Given the description of an element on the screen output the (x, y) to click on. 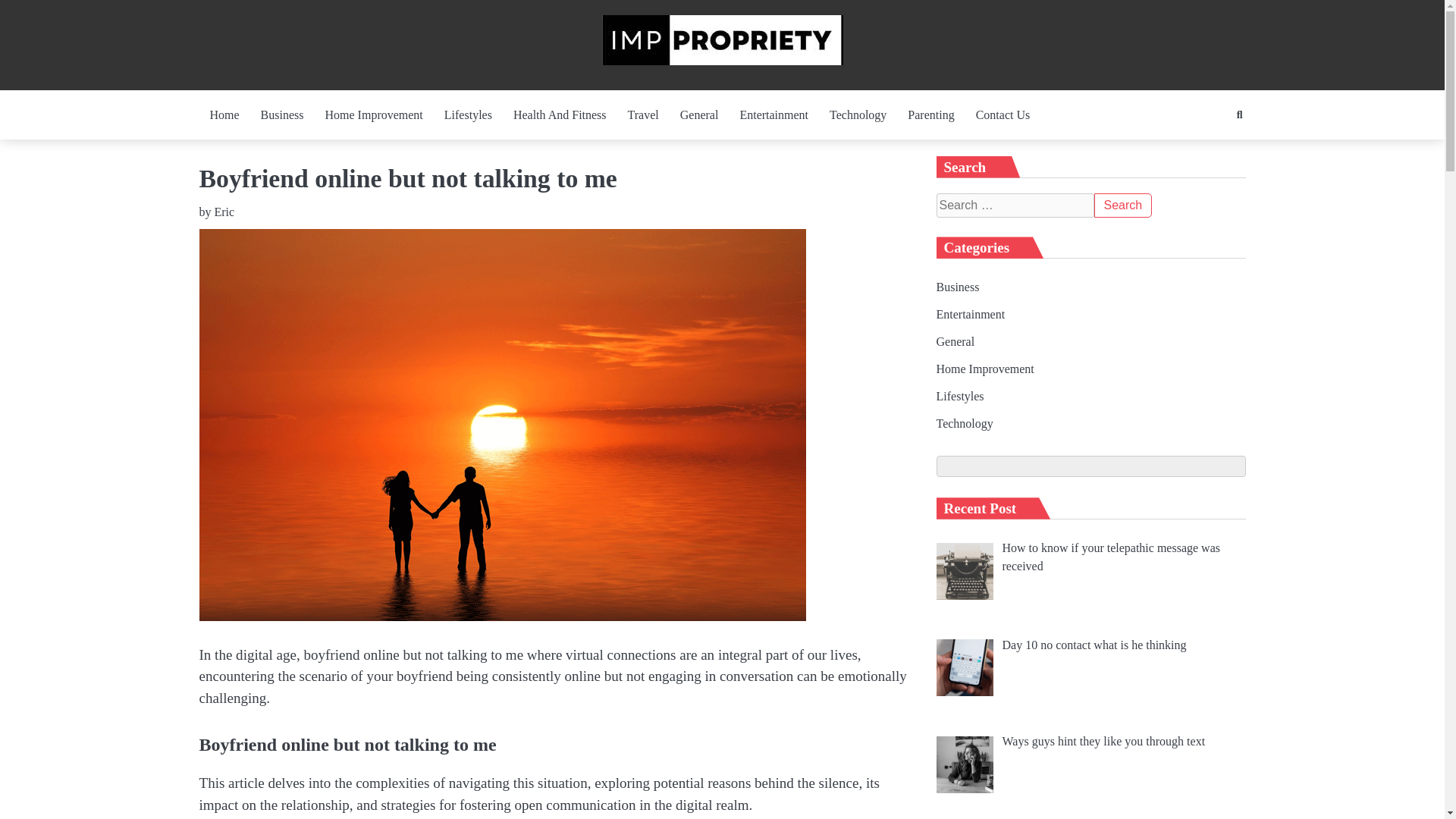
Search (1210, 145)
Entertainment (970, 314)
Eric (224, 211)
Home Improvement (373, 114)
Lifestyles (467, 114)
Search (1122, 205)
General (699, 114)
Business (282, 114)
Search (1122, 205)
Travel (643, 114)
Lifestyles (960, 395)
Home (223, 114)
Technology (857, 114)
Business (957, 286)
How to know if your telepathic message was received (1111, 556)
